Given the description of an element on the screen output the (x, y) to click on. 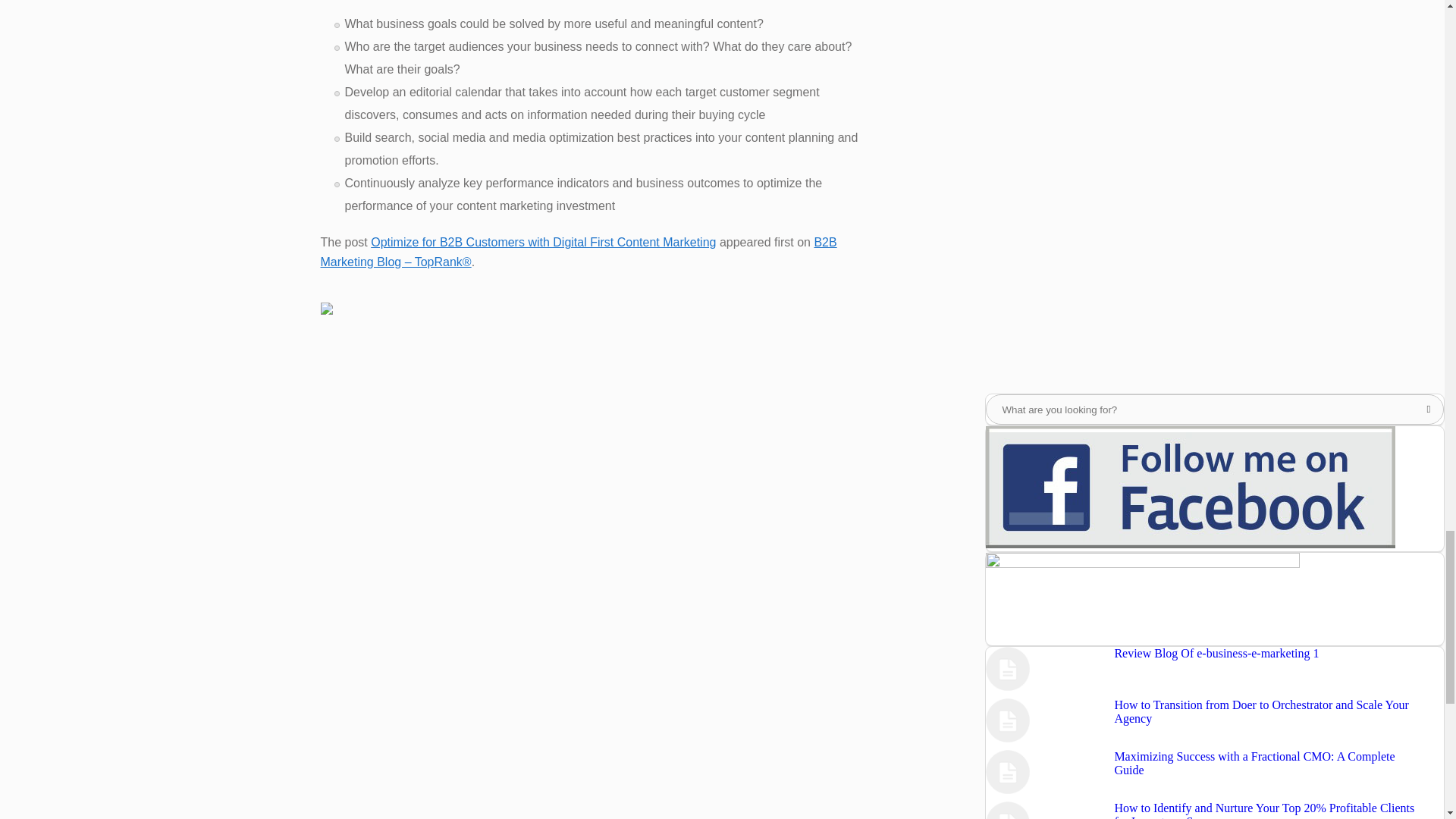
Review Blog Of e-business-e-marketing 1 (1216, 653)
Maximizing Success with a Fractional CMO: A Complete Guide (1253, 763)
